Given the description of an element on the screen output the (x, y) to click on. 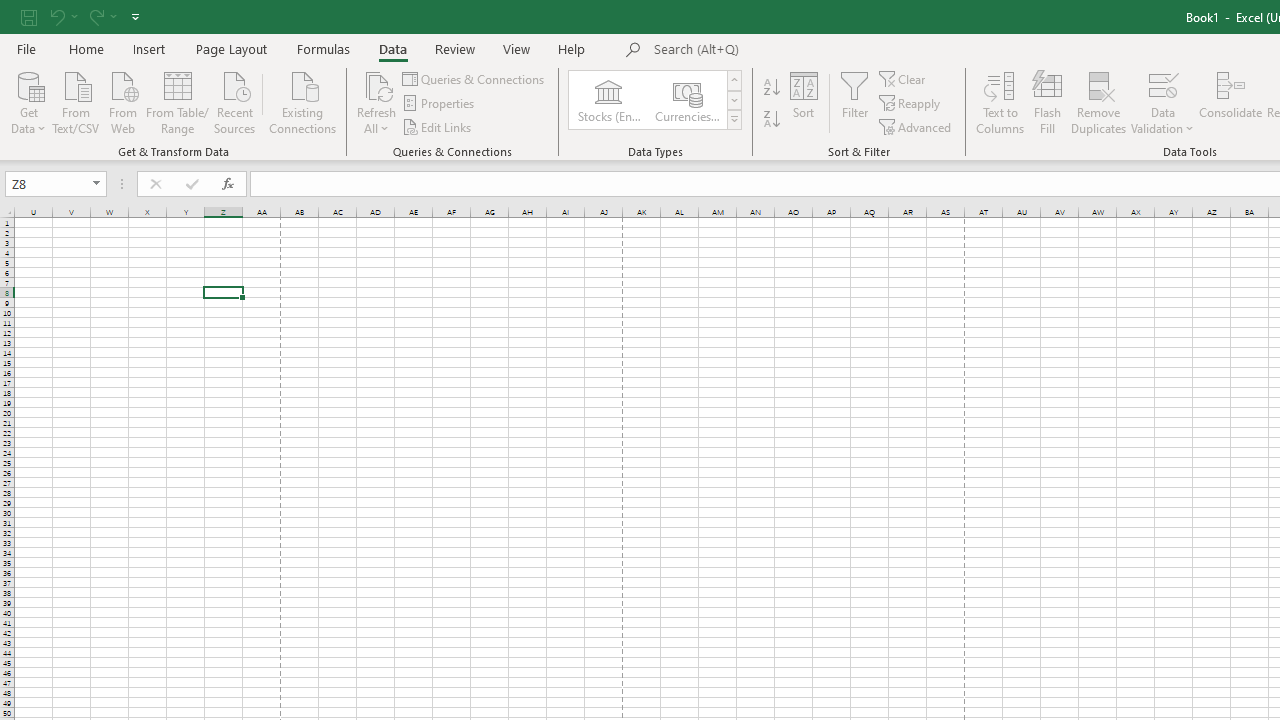
Consolidate... (1230, 102)
